Given the description of an element on the screen output the (x, y) to click on. 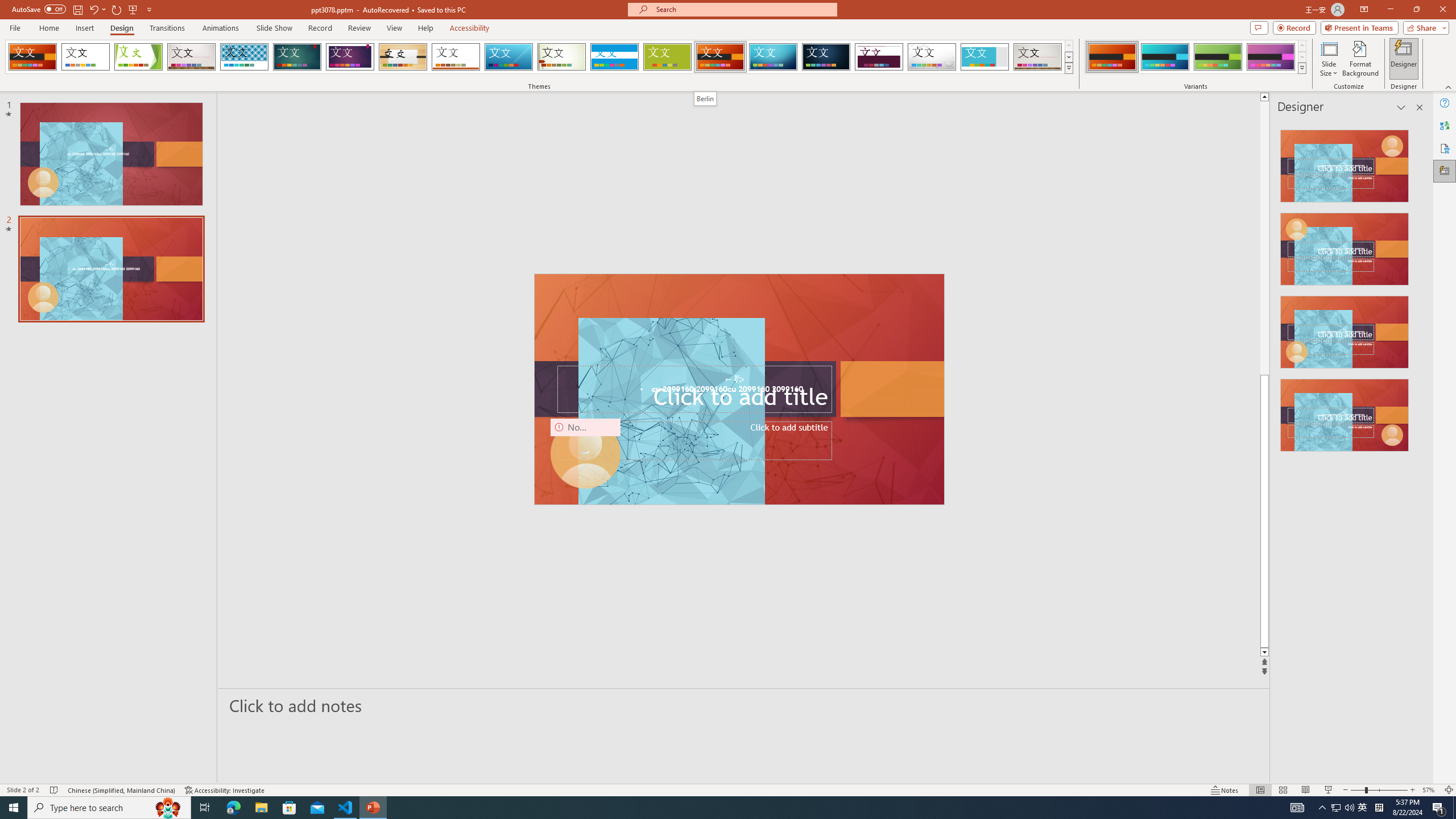
Format Background (1360, 58)
Design Idea (1344, 411)
Wisp (561, 56)
Dividend (879, 56)
Berlin Variant 1 (1112, 56)
AutomationID: SlideThemesGallery (539, 56)
Office Theme (85, 56)
Berlin Variant 4 (1270, 56)
Circuit (772, 56)
Frame (984, 56)
